Given the description of an element on the screen output the (x, y) to click on. 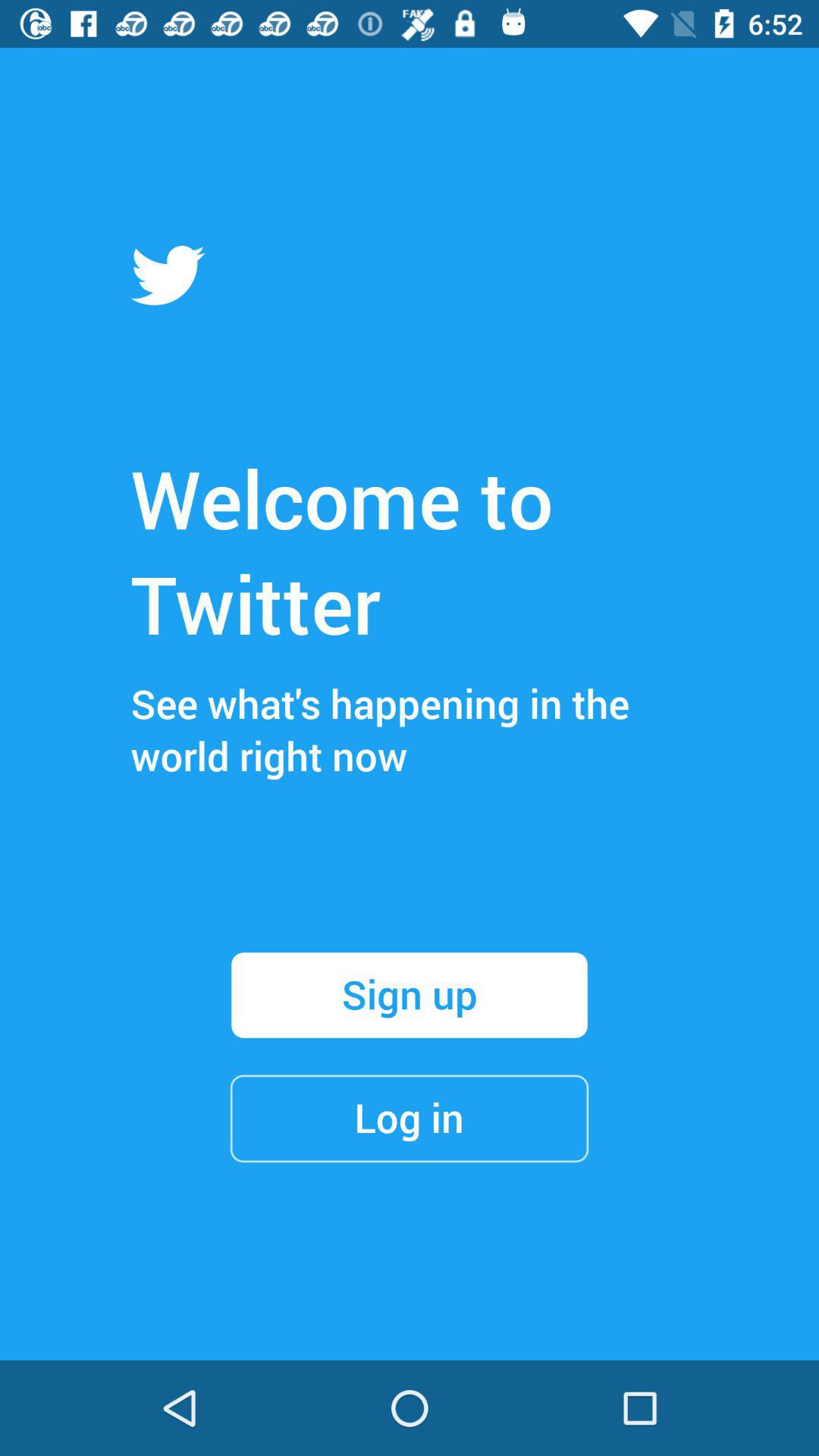
scroll to log in item (409, 1118)
